Given the description of an element on the screen output the (x, y) to click on. 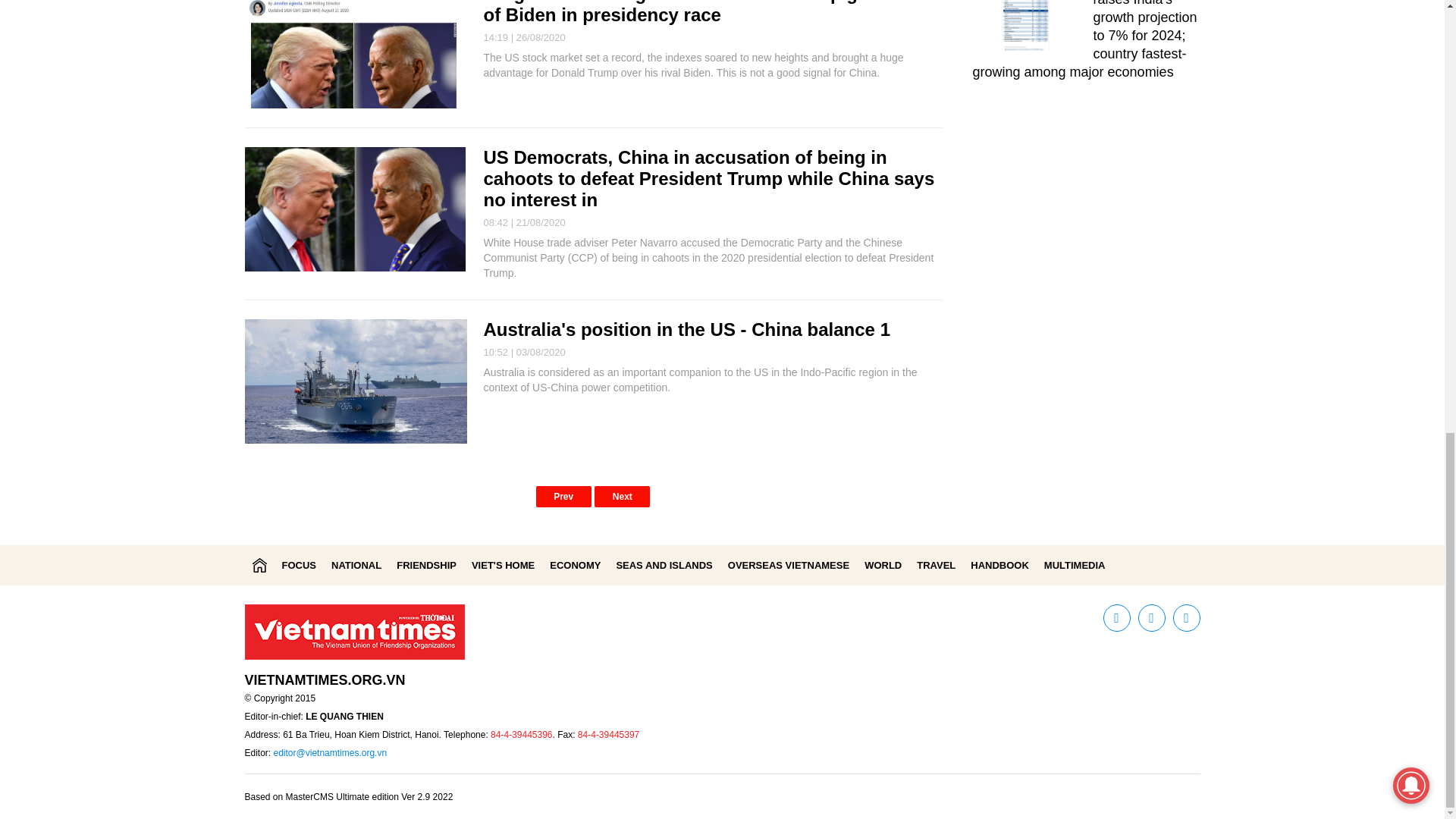
Australia's position in the US - China balance (679, 329)
Vietnam Times (258, 564)
